Given the description of an element on the screen output the (x, y) to click on. 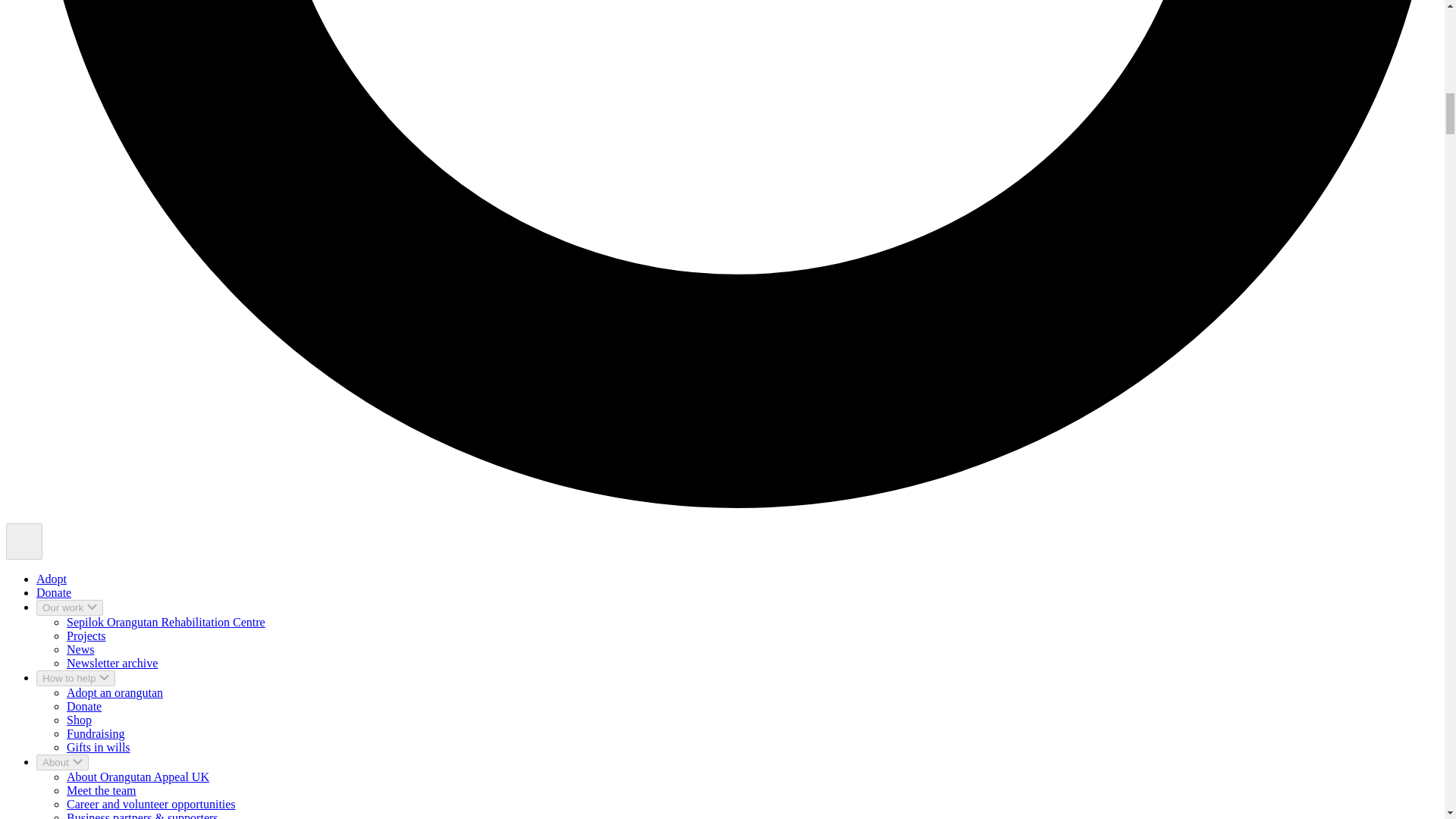
Donate (53, 592)
Adopt (51, 578)
Menu (23, 541)
